Given the description of an element on the screen output the (x, y) to click on. 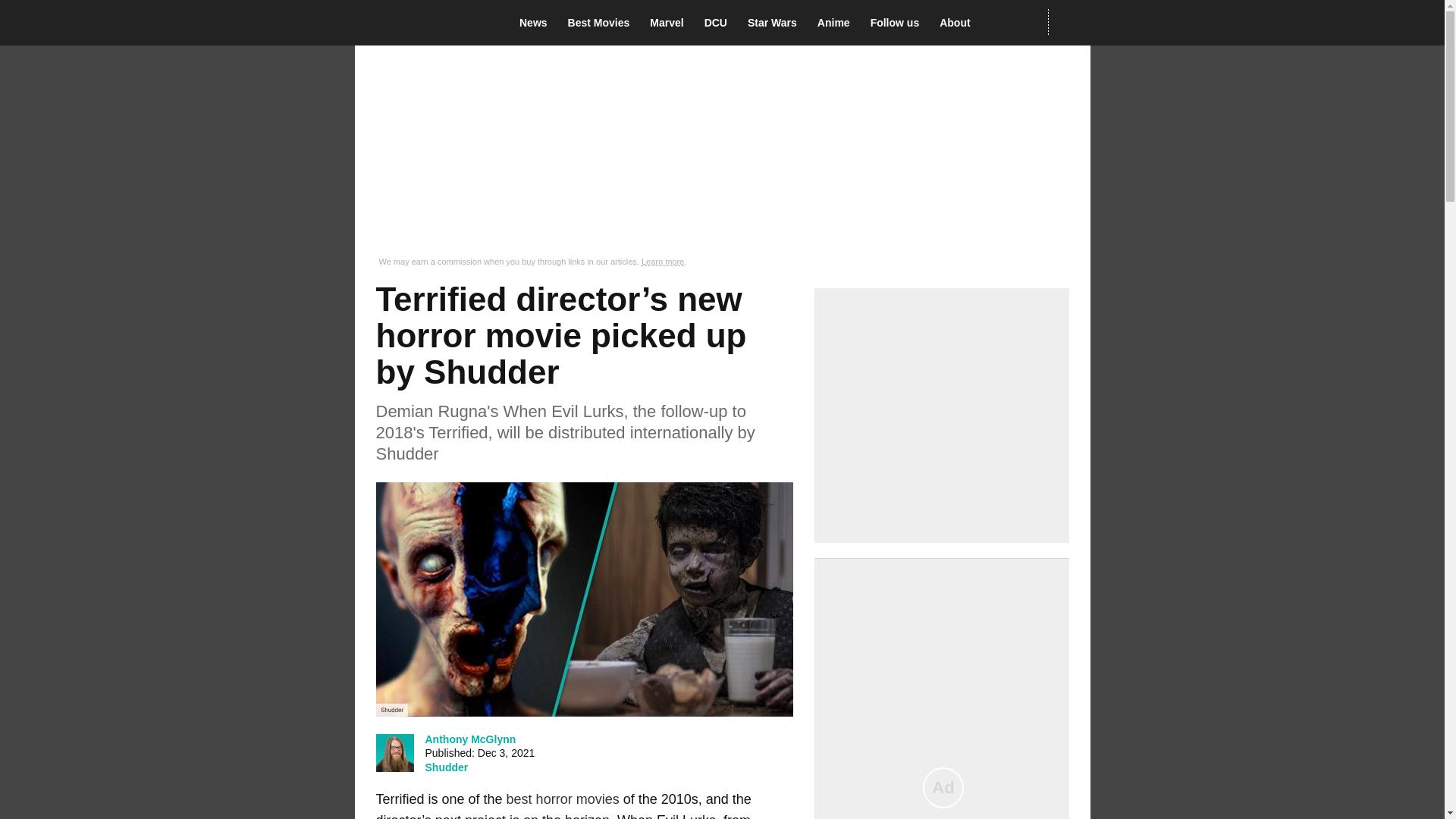
Shudder (446, 767)
News (537, 22)
About (958, 22)
Follow us (899, 22)
DC Comics Universe News (720, 22)
Learn more (663, 261)
DCU (720, 22)
Star Wars News (777, 22)
Best Movies (603, 22)
The Digital Fix (424, 22)
Marvel (671, 22)
Star Wars (777, 22)
Network N Media (1068, 22)
Anime News (837, 22)
TV and Movie News (537, 22)
